Given the description of an element on the screen output the (x, y) to click on. 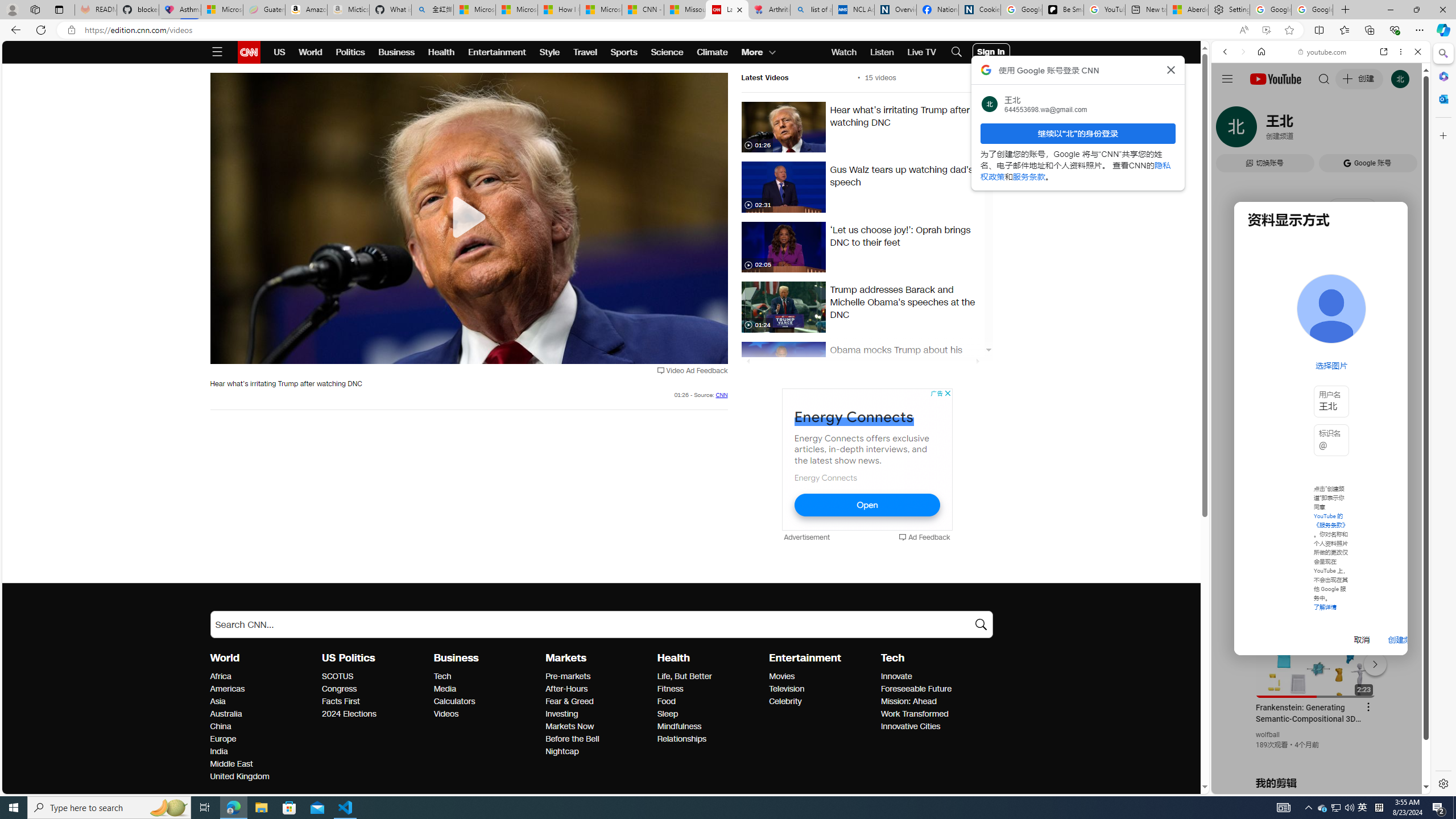
Climate (712, 51)
Markets Markets Now (570, 726)
Tech Innovative Cities (910, 726)
US Politics 2024 Elections (349, 713)
Business (456, 657)
Work Transformed (932, 714)
